Given the description of an element on the screen output the (x, y) to click on. 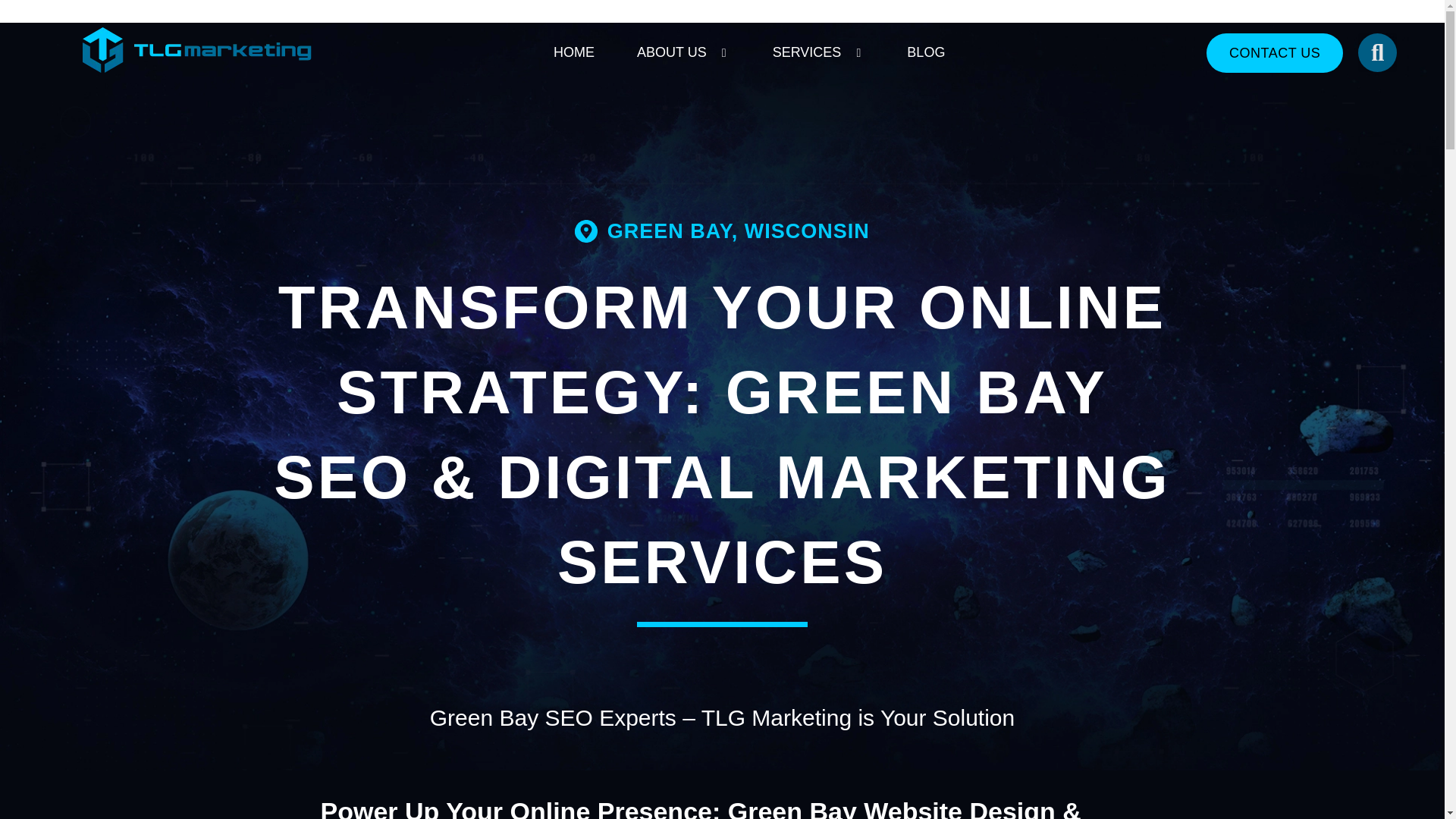
HOME (573, 52)
ABOUT US (671, 52)
SERVICES (807, 52)
